Given the description of an element on the screen output the (x, y) to click on. 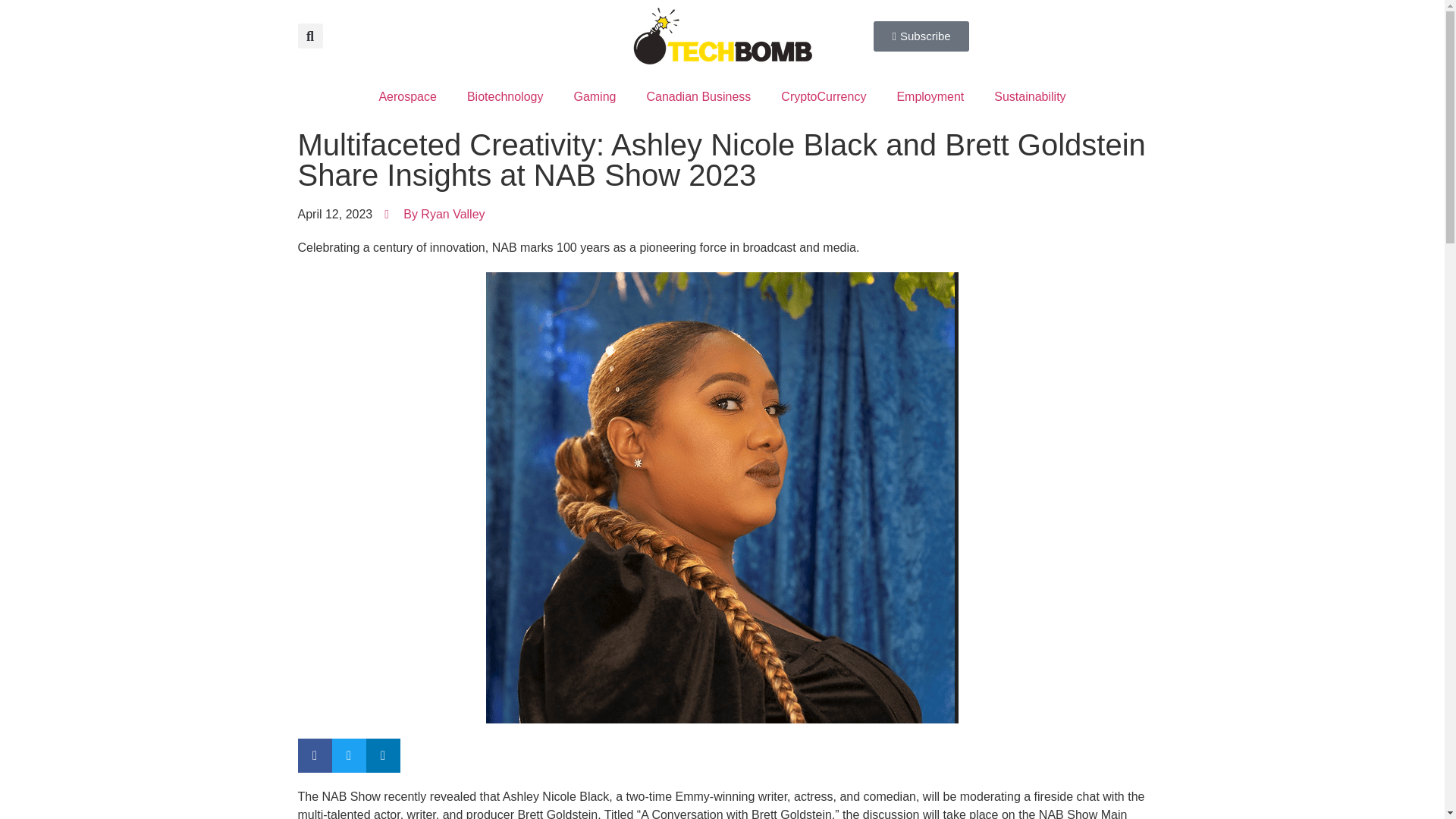
By Ryan Valley (434, 214)
Biotechnology (505, 96)
Subscribe (920, 36)
CryptoCurrency (822, 96)
Sustainability (1029, 96)
Gaming (593, 96)
Aerospace (406, 96)
Employment (929, 96)
Canadian Business (697, 96)
